Given the description of an element on the screen output the (x, y) to click on. 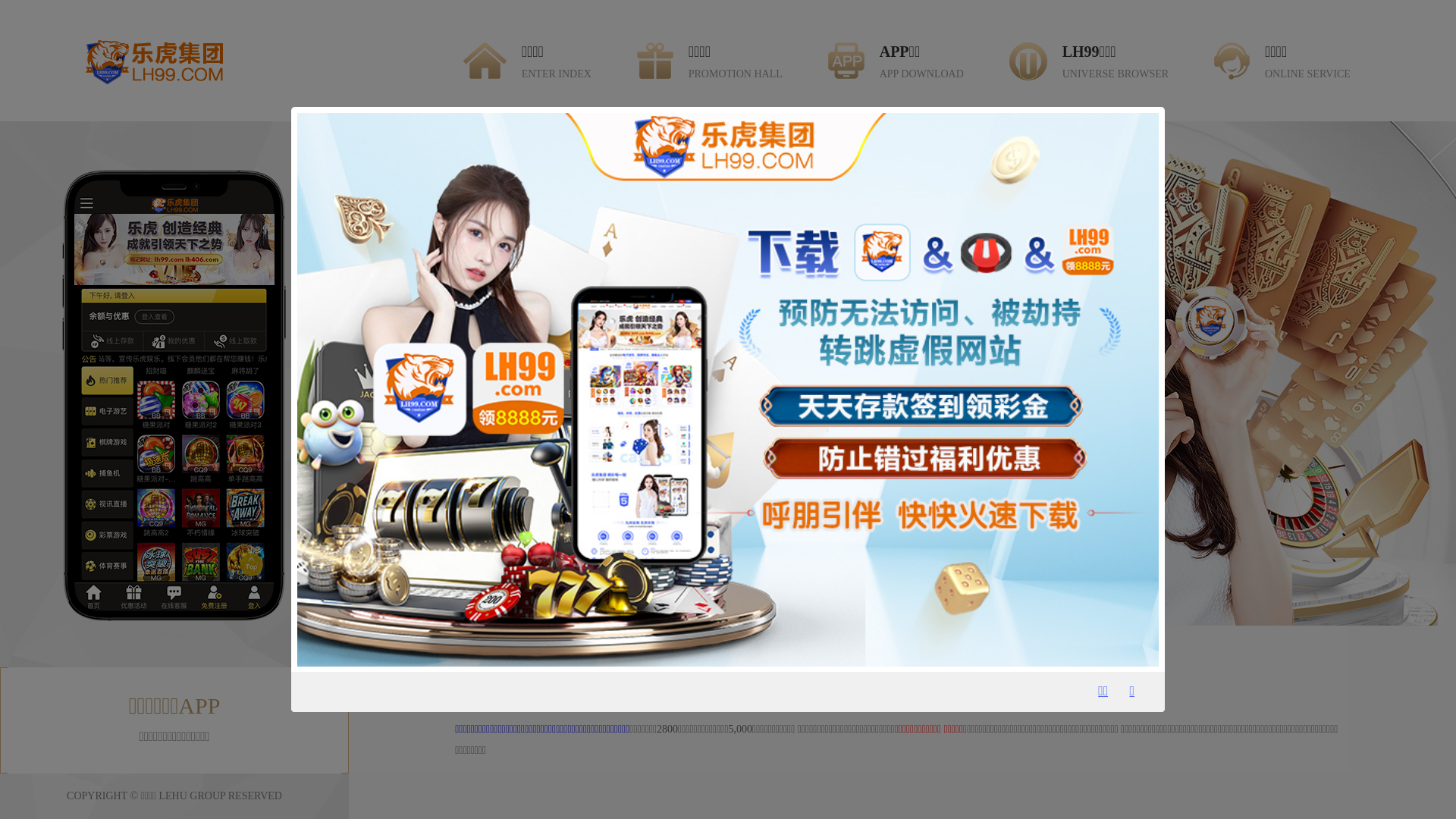
LH406.vip Element type: text (612, 683)
LH99.vip Element type: text (498, 683)
